Given the description of an element on the screen output the (x, y) to click on. 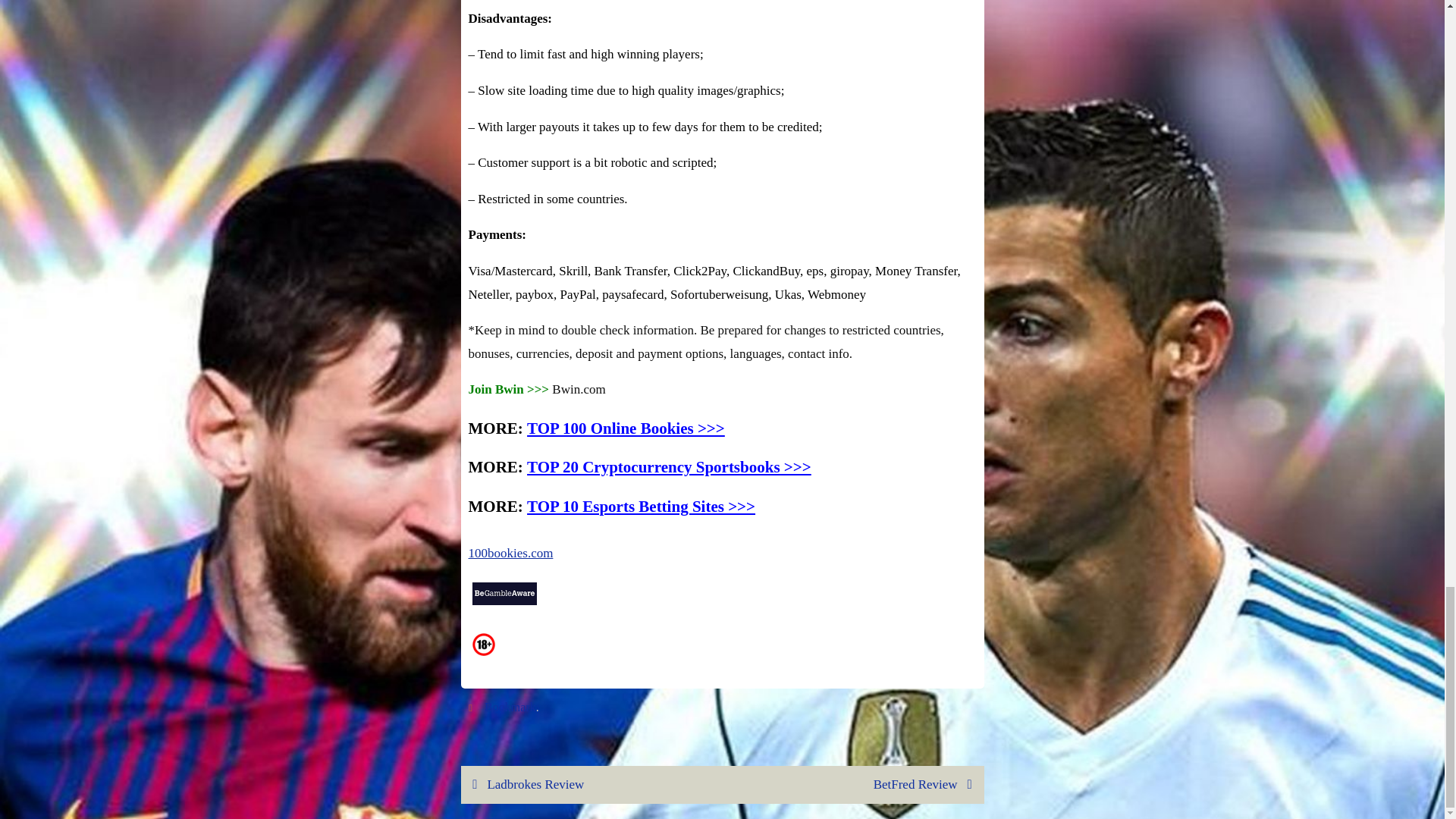
100bookies.com (510, 553)
 Bookmark the permalink (472, 707)
BetFred Review (853, 784)
Ladbrokes Review (591, 784)
Permalink to Bwin Review (509, 707)
Bookmark (509, 707)
